Given the description of an element on the screen output the (x, y) to click on. 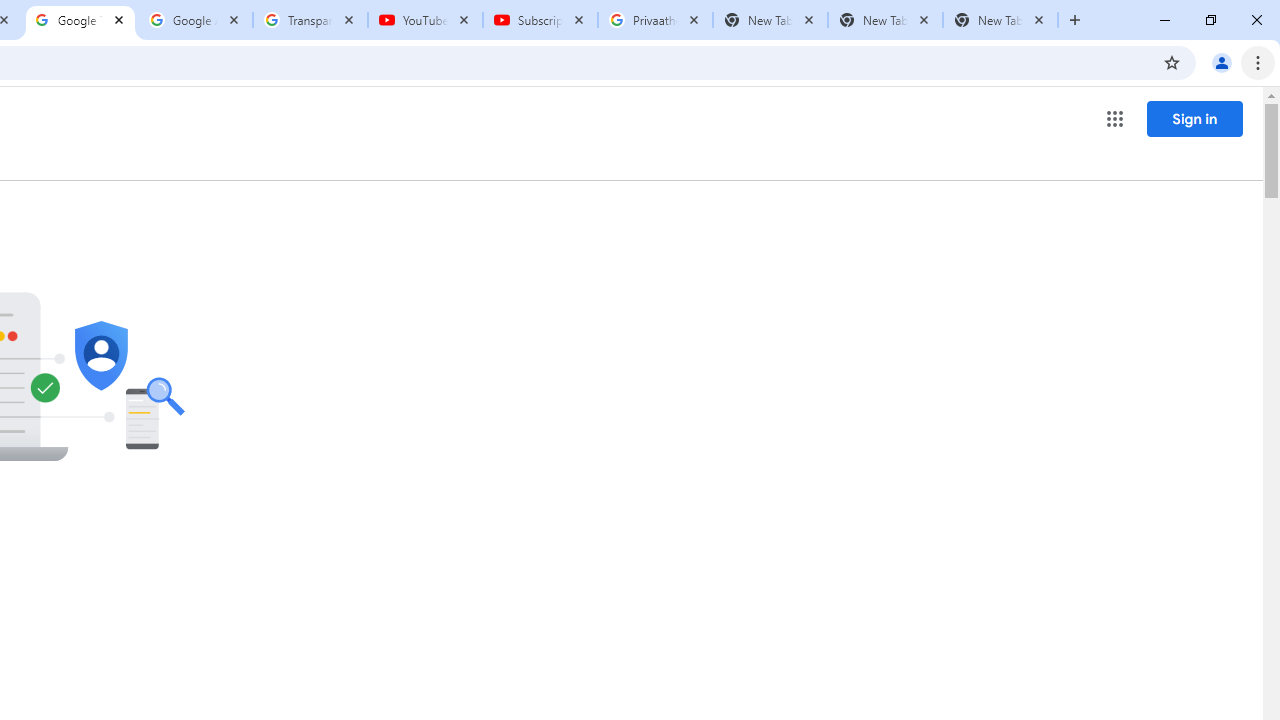
New Tab (1000, 20)
Subscriptions - YouTube (539, 20)
Google Account (195, 20)
